Given the description of an element on the screen output the (x, y) to click on. 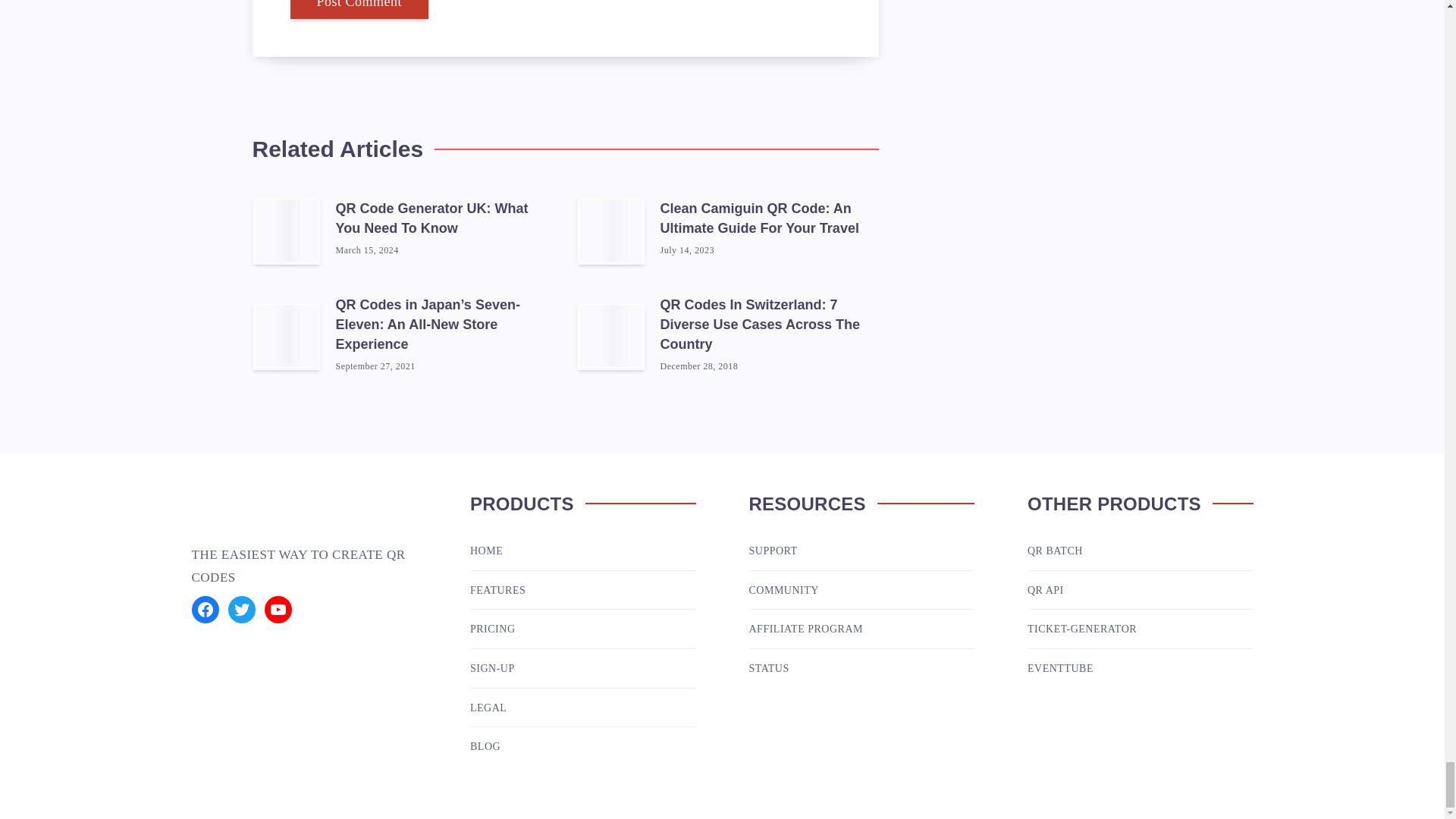
Post Comment (358, 9)
